Given the description of an element on the screen output the (x, y) to click on. 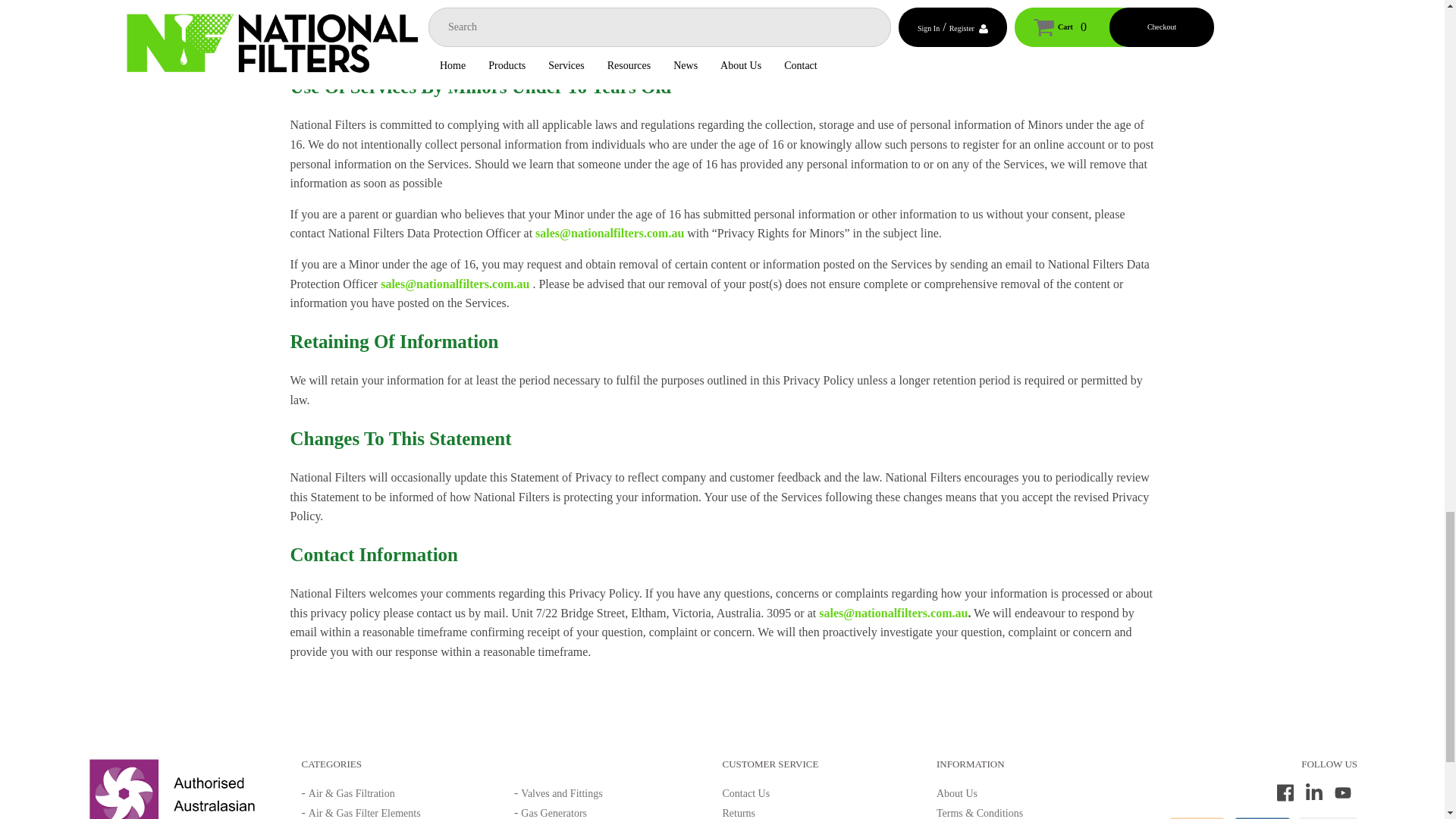
Valves and Fittings (561, 793)
Gas Generators (553, 813)
Returns (738, 813)
Contact Us (746, 793)
About Us (956, 793)
